Given the description of an element on the screen output the (x, y) to click on. 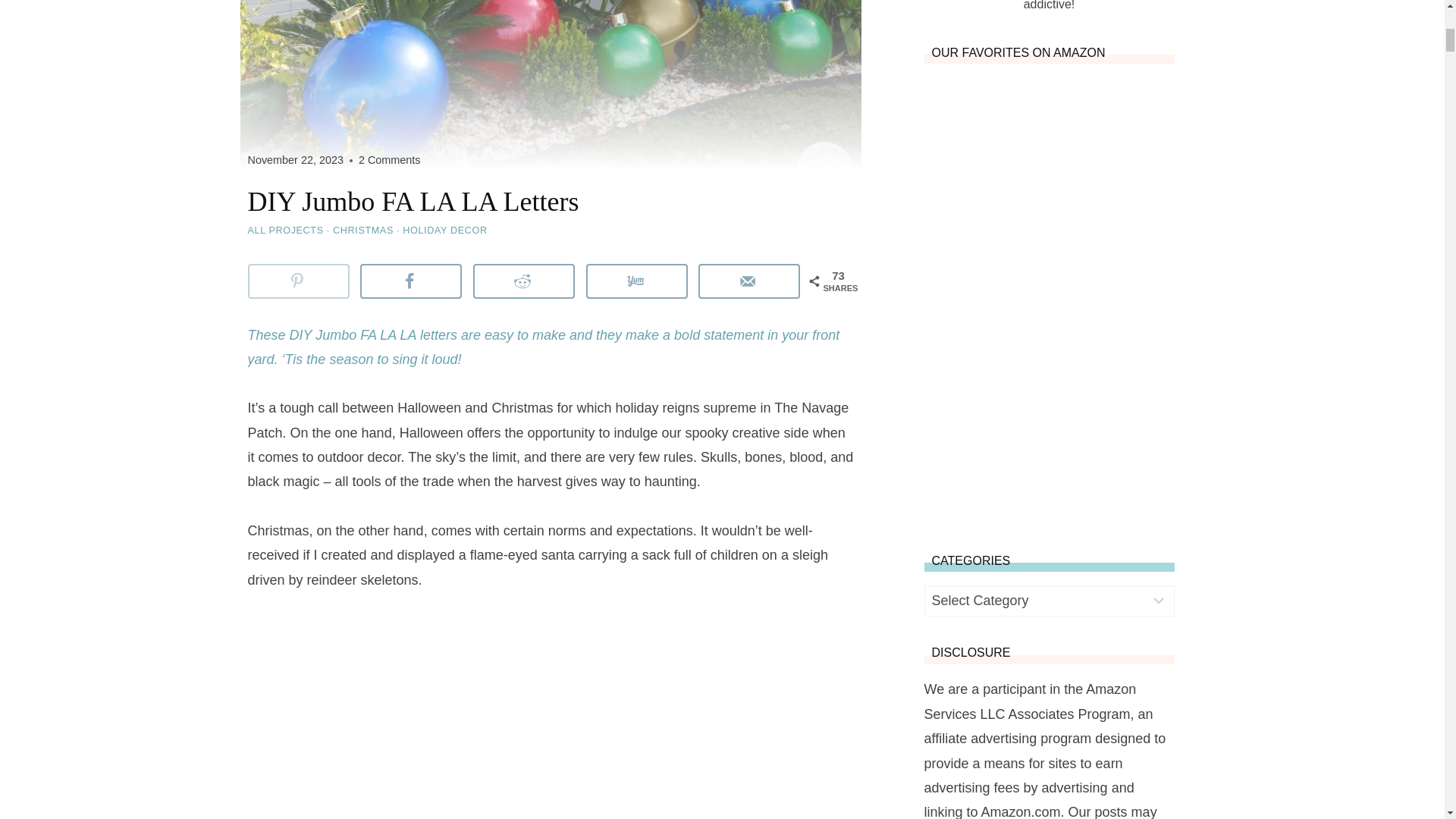
CHRISTMAS (363, 230)
Save to Pinterest (298, 280)
Share on Facebook (410, 280)
Share on Reddit (524, 280)
2 Comments (389, 160)
Share on Yummly (636, 280)
Send over email (748, 280)
2 Comments (389, 160)
ALL PROJECTS (285, 230)
HOLIDAY DECOR (444, 230)
